Given the description of an element on the screen output the (x, y) to click on. 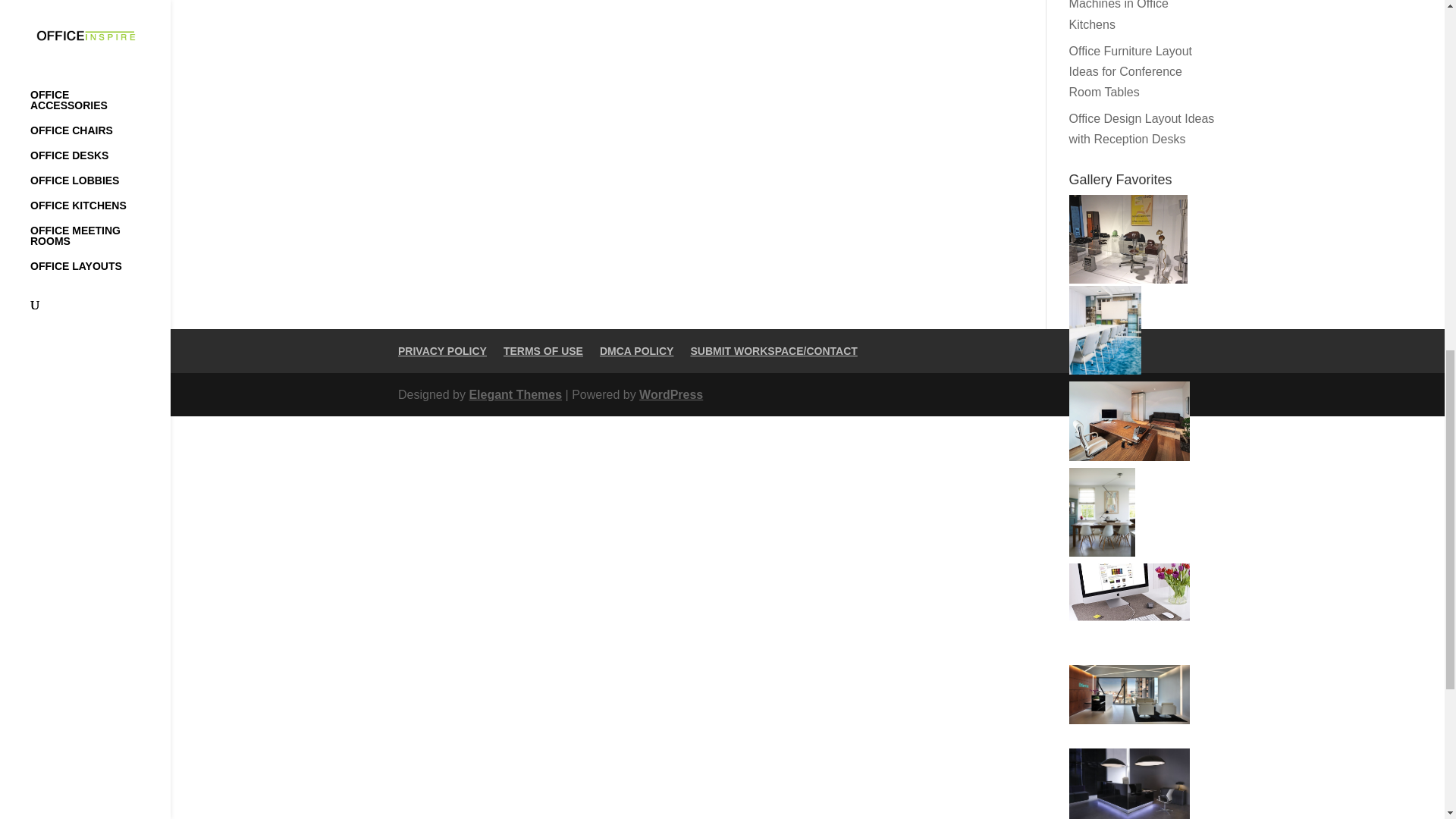
Office Furniture Layout Ideas for Conference Room Tables (1130, 71)
Pictures of Coffee Machines in Office Kitchens (1118, 15)
PRIVACY POLICY (441, 350)
Glass desk with vintage objects (1127, 238)
Office Design Layout Ideas with Reception Desks (1141, 128)
Elegant Themes (515, 394)
TERMS OF USE (543, 350)
DMCA POLICY (635, 350)
Large Deskpad on desk (1128, 603)
Modern reception desk in clean lobby (1128, 694)
WordPress (671, 394)
